Given the description of an element on the screen output the (x, y) to click on. 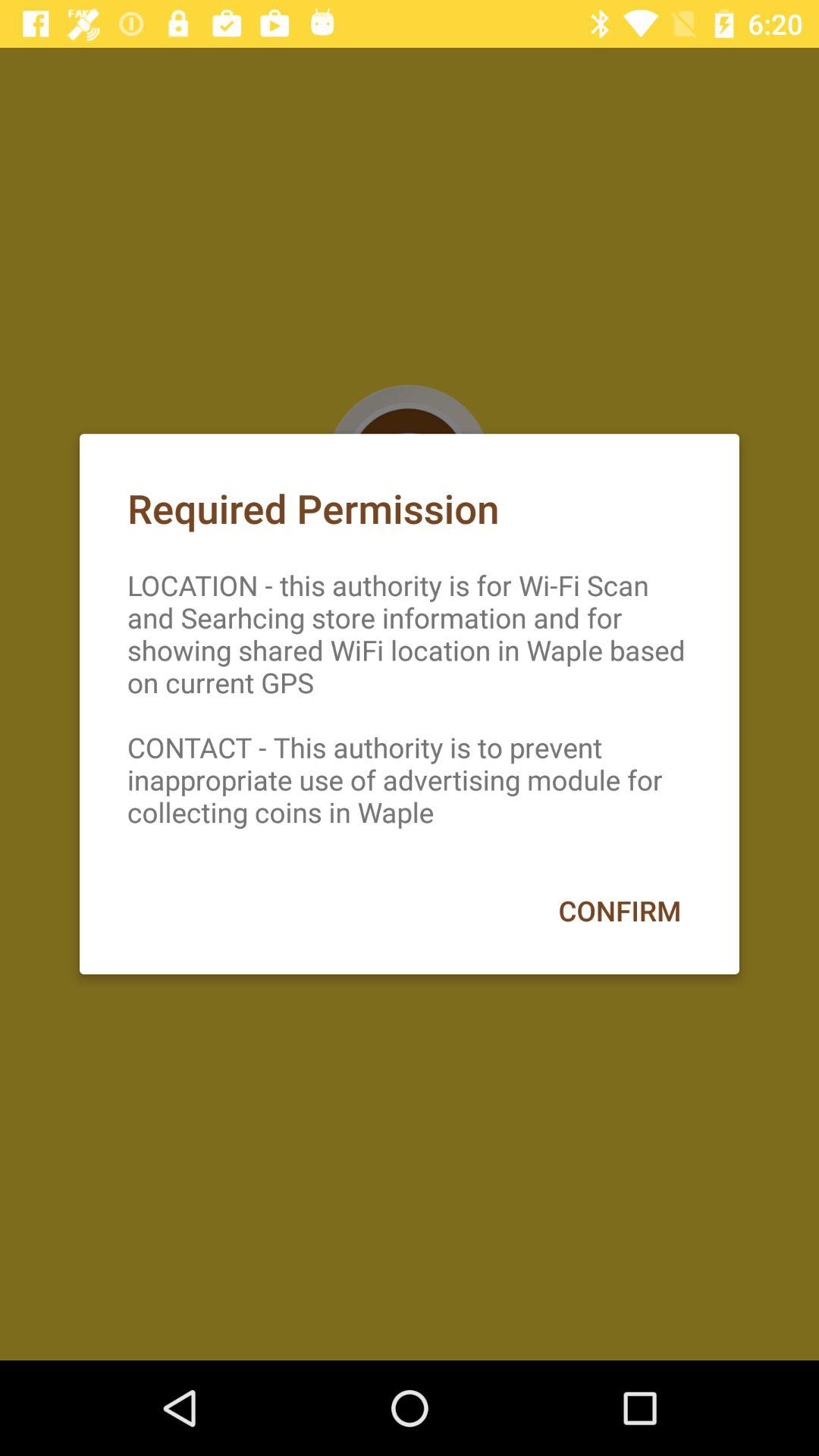
tap item below the location this authority item (619, 910)
